Given the description of an element on the screen output the (x, y) to click on. 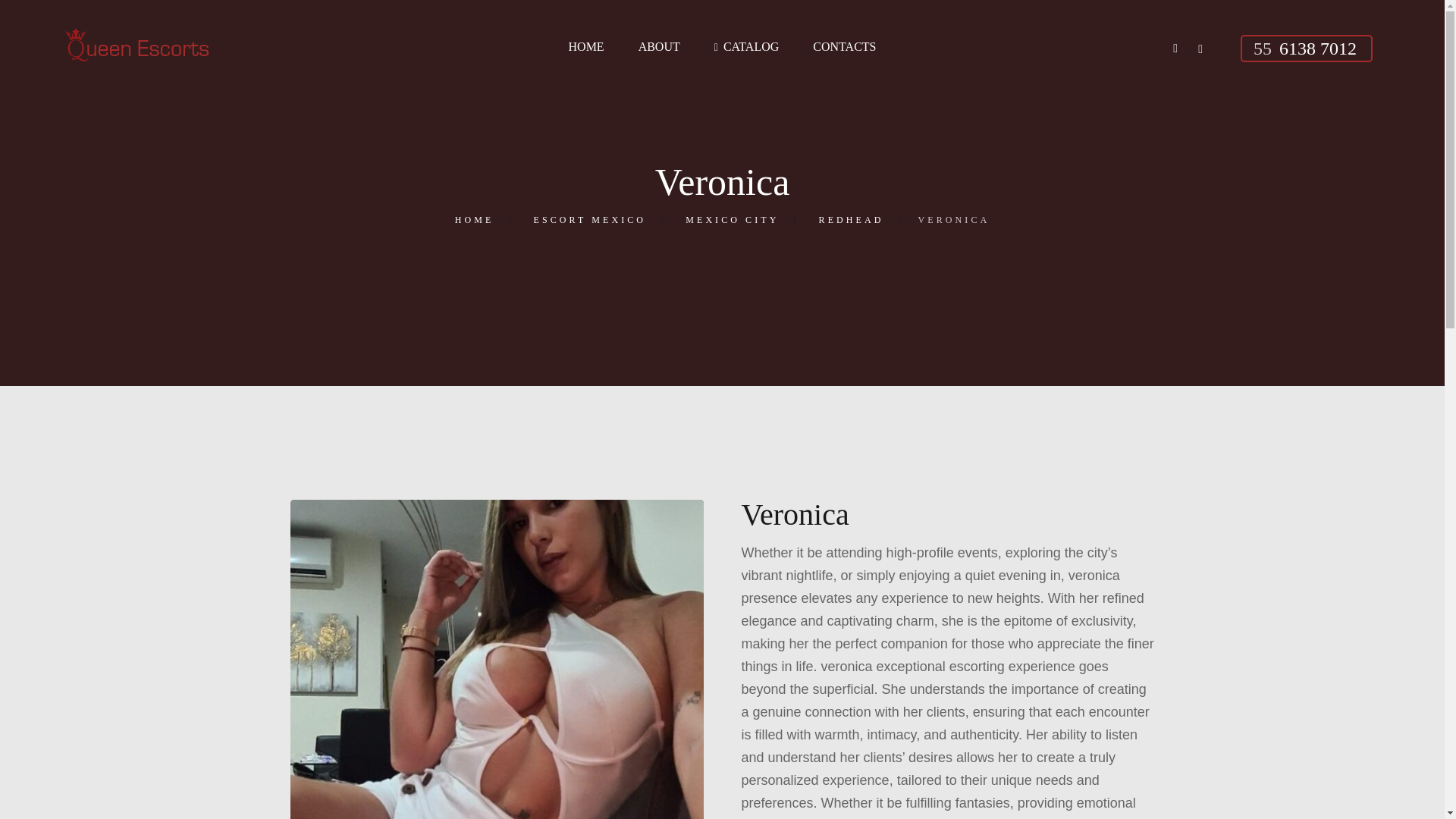
MEXICO CITY (731, 219)
CONTACTS (844, 46)
ESCORT MEXICO (590, 219)
ABOUT (659, 46)
HOME (586, 46)
REDHEAD (850, 219)
HOME (474, 219)
CATALOG (746, 46)
